Given the description of an element on the screen output the (x, y) to click on. 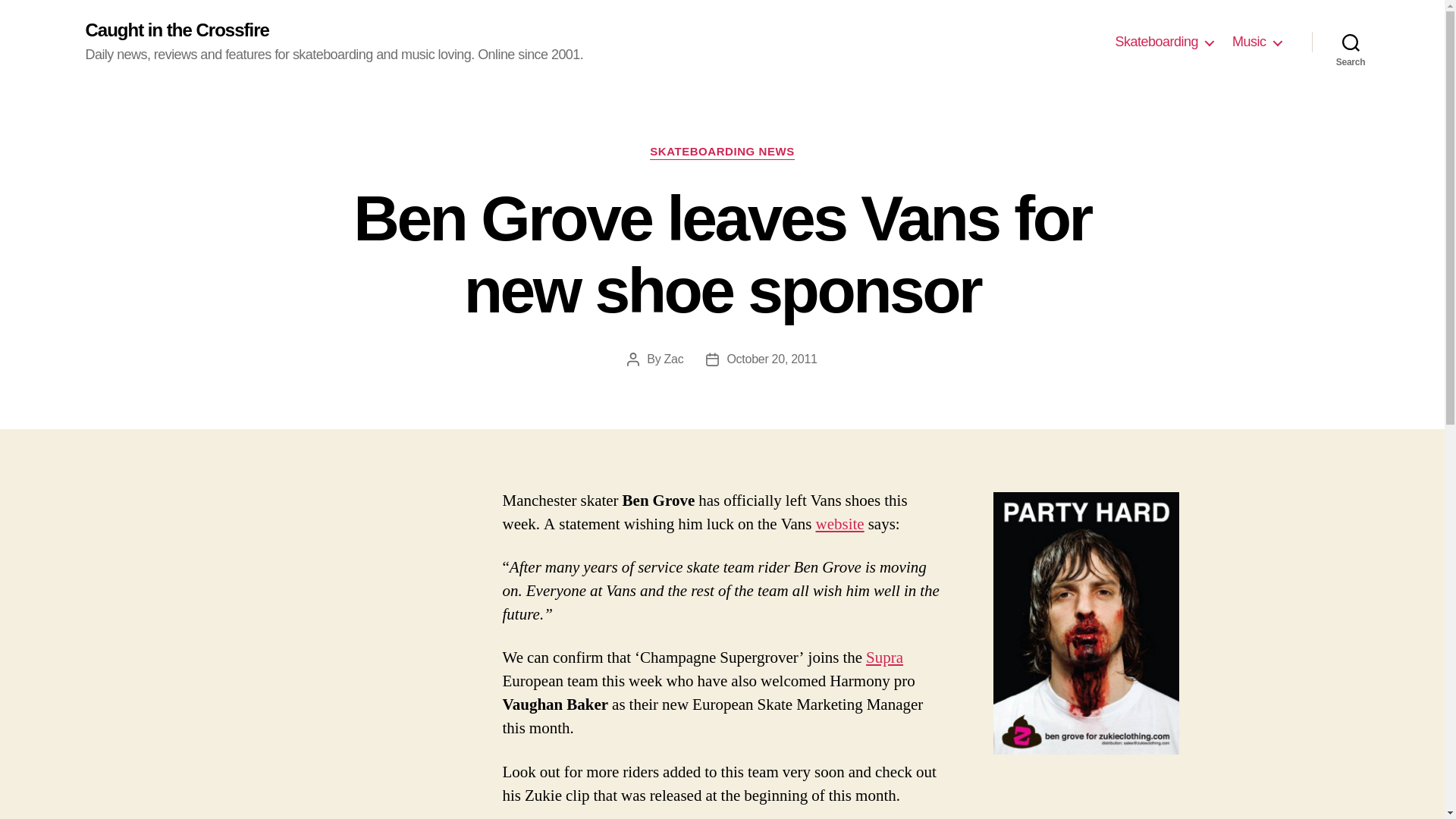
Search (1350, 41)
Music (1256, 42)
Skateboarding (1163, 42)
Caught in the Crossfire (175, 30)
